Given the description of an element on the screen output the (x, y) to click on. 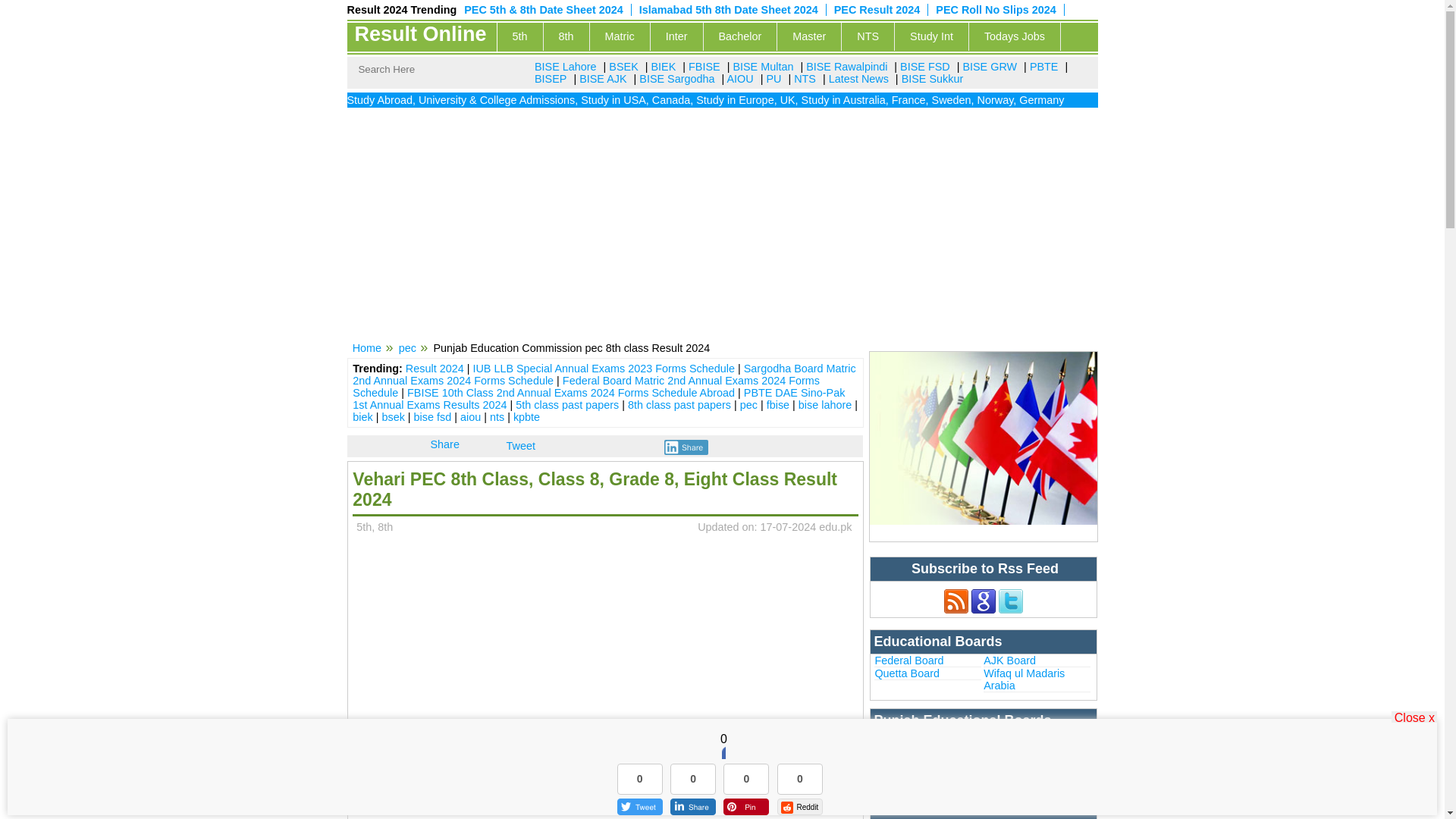
Advertisement (604, 650)
Advertisement (604, 794)
Latest Educational News (858, 78)
